Given the description of an element on the screen output the (x, y) to click on. 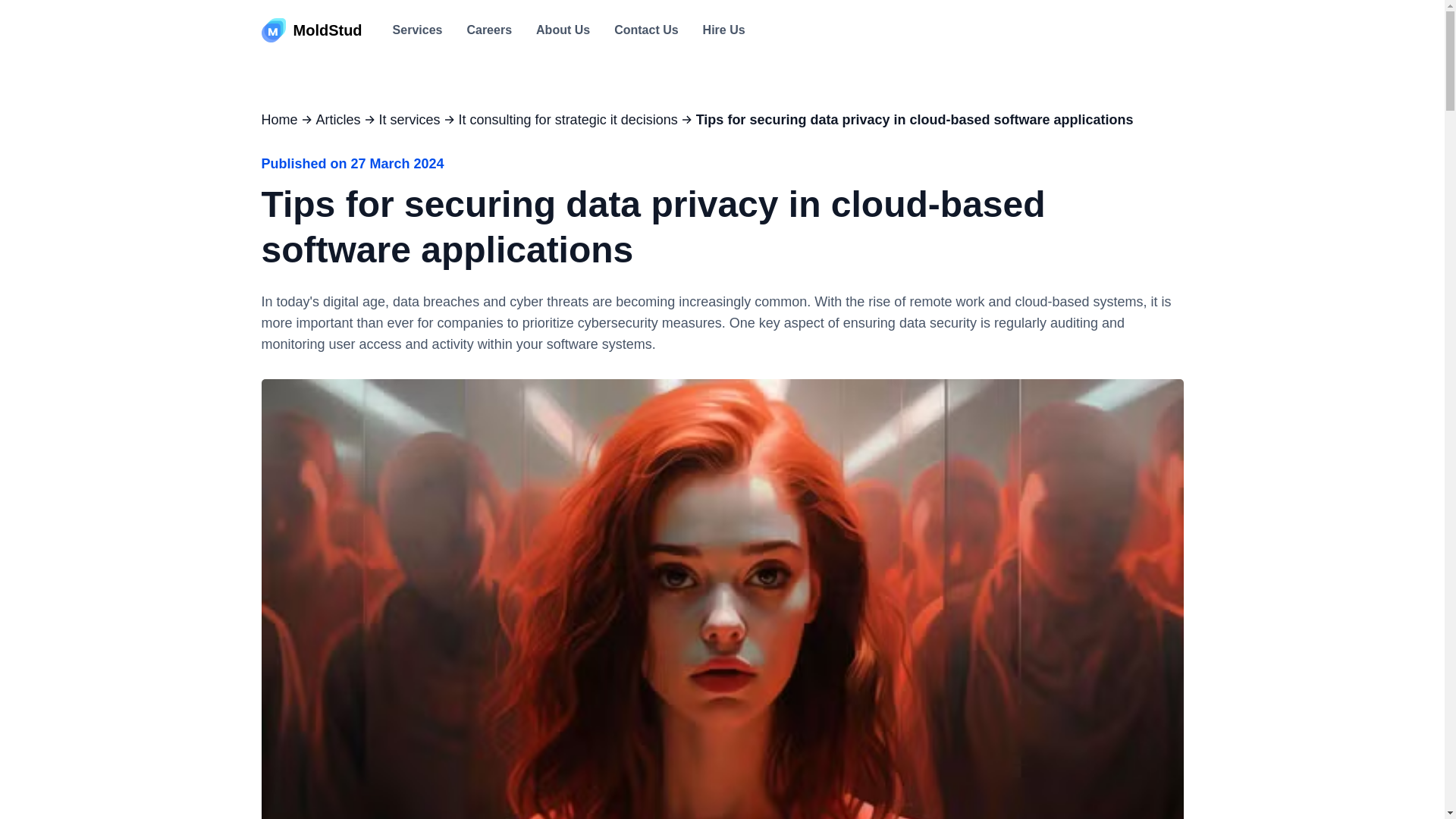
Careers (488, 29)
Hire Us (724, 29)
Careers (488, 29)
MoldStud (310, 30)
About Us (562, 29)
Contact Us (646, 29)
About Us (562, 29)
It services (409, 119)
Hire Us (724, 29)
Contact Us (646, 29)
Services (417, 29)
Services (417, 29)
It consulting for strategic it decisions (568, 119)
Home (278, 119)
Articles (338, 119)
